Given the description of an element on the screen output the (x, y) to click on. 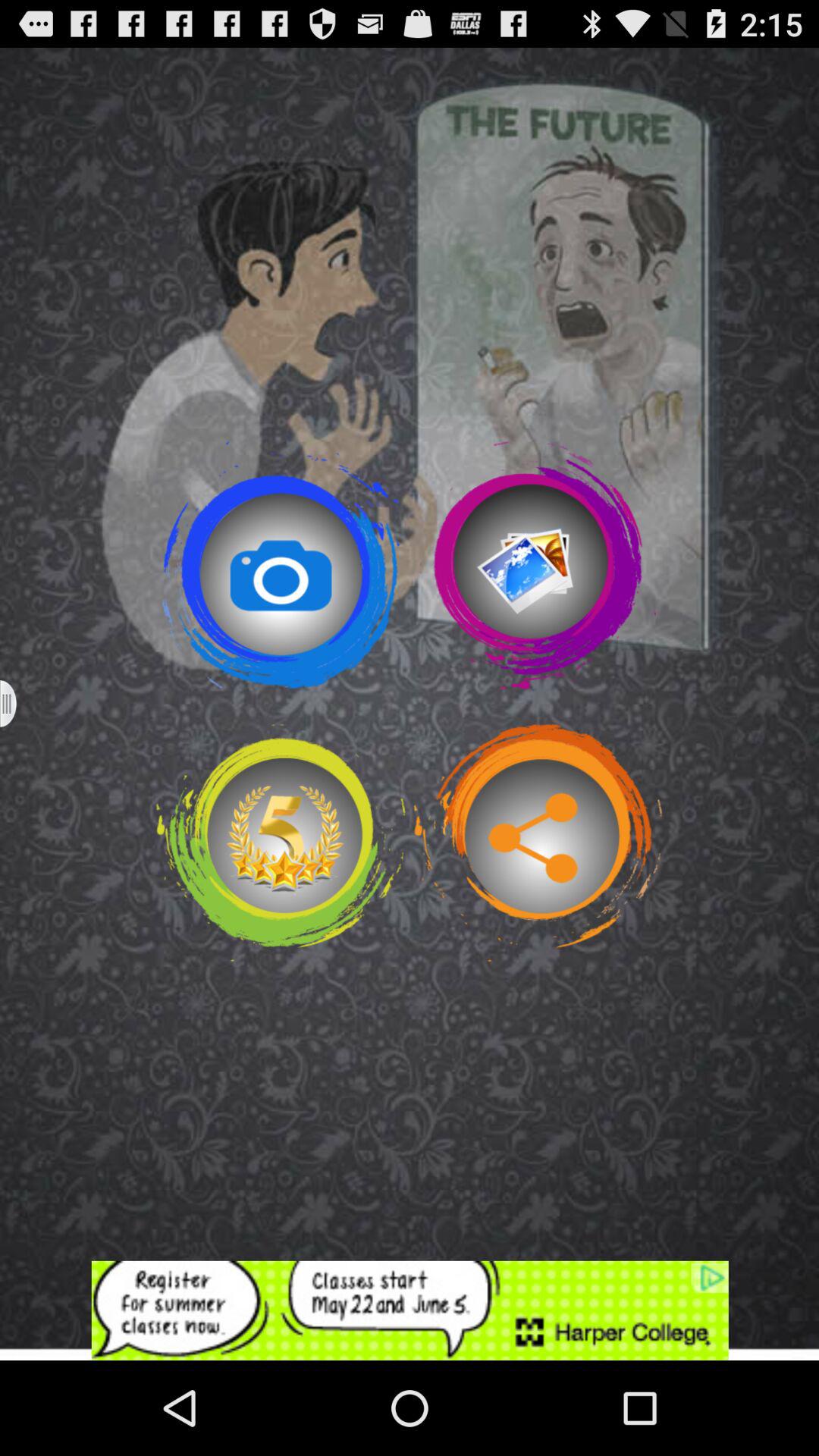
choose an image from gallery (537, 564)
